Given the description of an element on the screen output the (x, y) to click on. 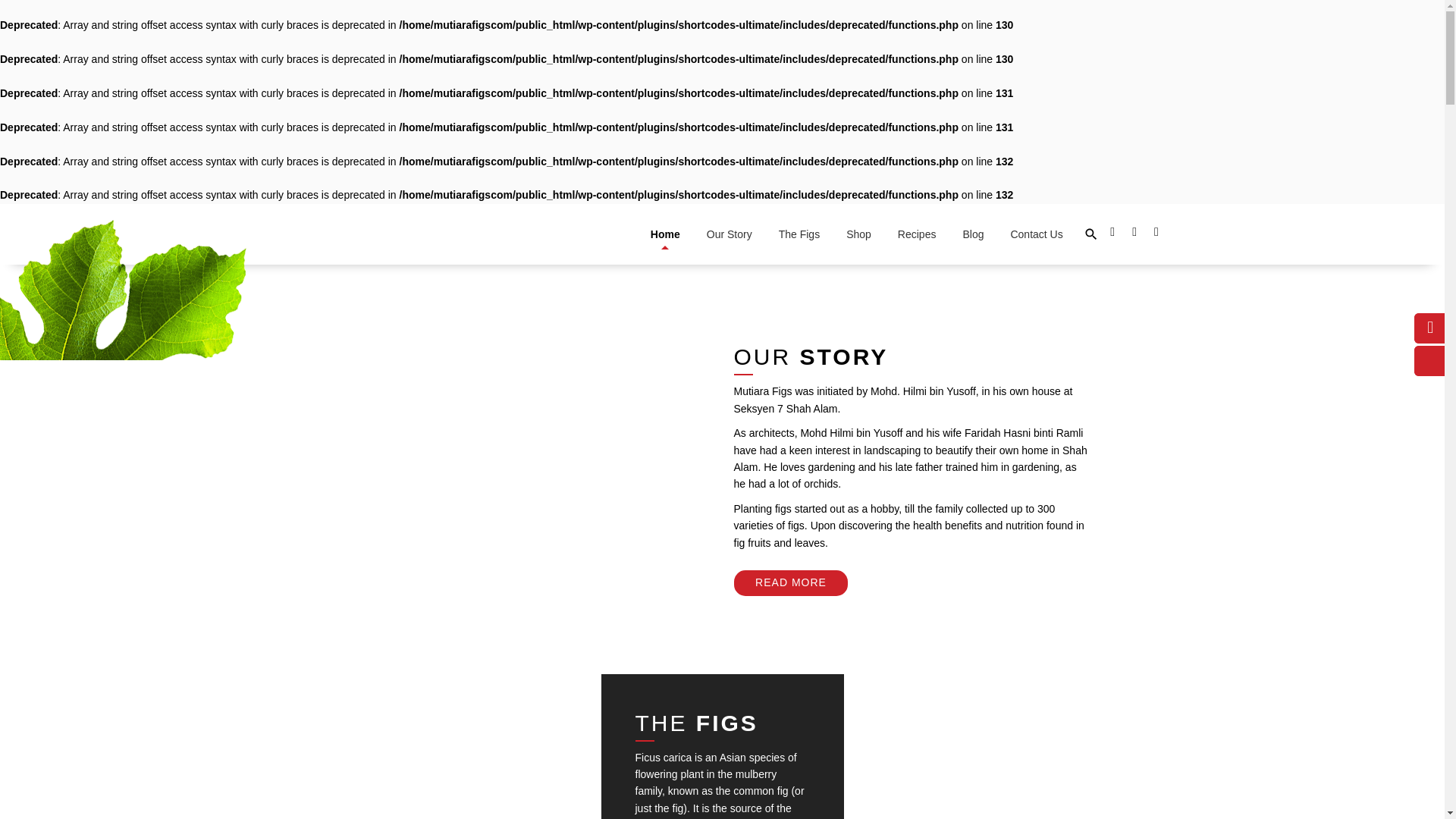
Our Story (729, 234)
Contact Us (1036, 234)
The Figs (798, 234)
The Figs (798, 234)
Home (664, 234)
Recipes (917, 234)
Recipes (917, 234)
Home (664, 234)
Contact Us (1036, 234)
Our Story (729, 234)
